Given the description of an element on the screen output the (x, y) to click on. 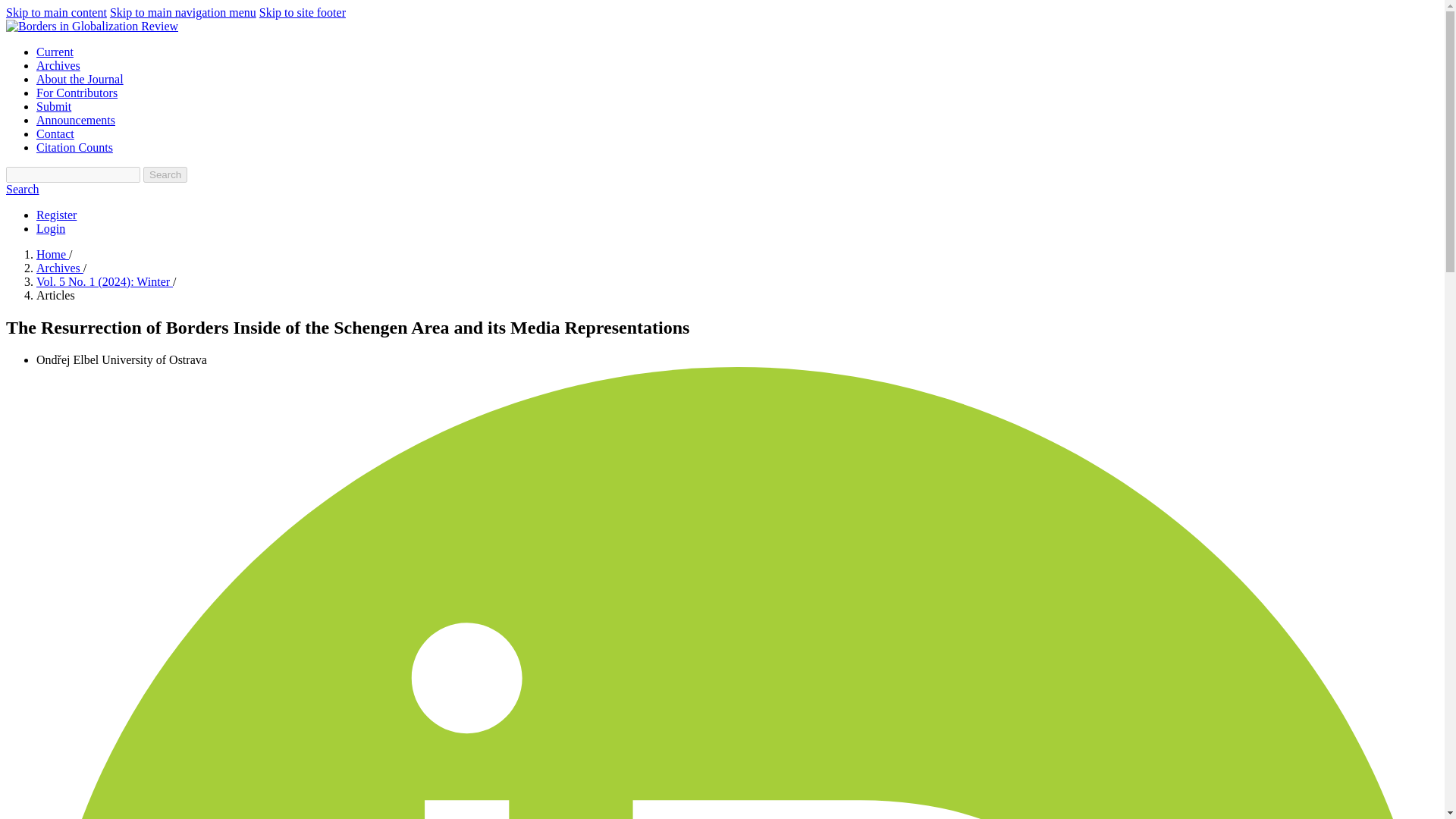
Login (50, 228)
Archives (58, 65)
Search (22, 188)
Home (52, 254)
Search (164, 174)
Skip to main navigation menu (183, 11)
Contact (55, 133)
Skip to main content (55, 11)
Archives (59, 267)
Skip to site footer (302, 11)
Citation Counts (74, 146)
For Contributors (76, 92)
Submit (53, 106)
About the Journal (79, 78)
Current (55, 51)
